Given the description of an element on the screen output the (x, y) to click on. 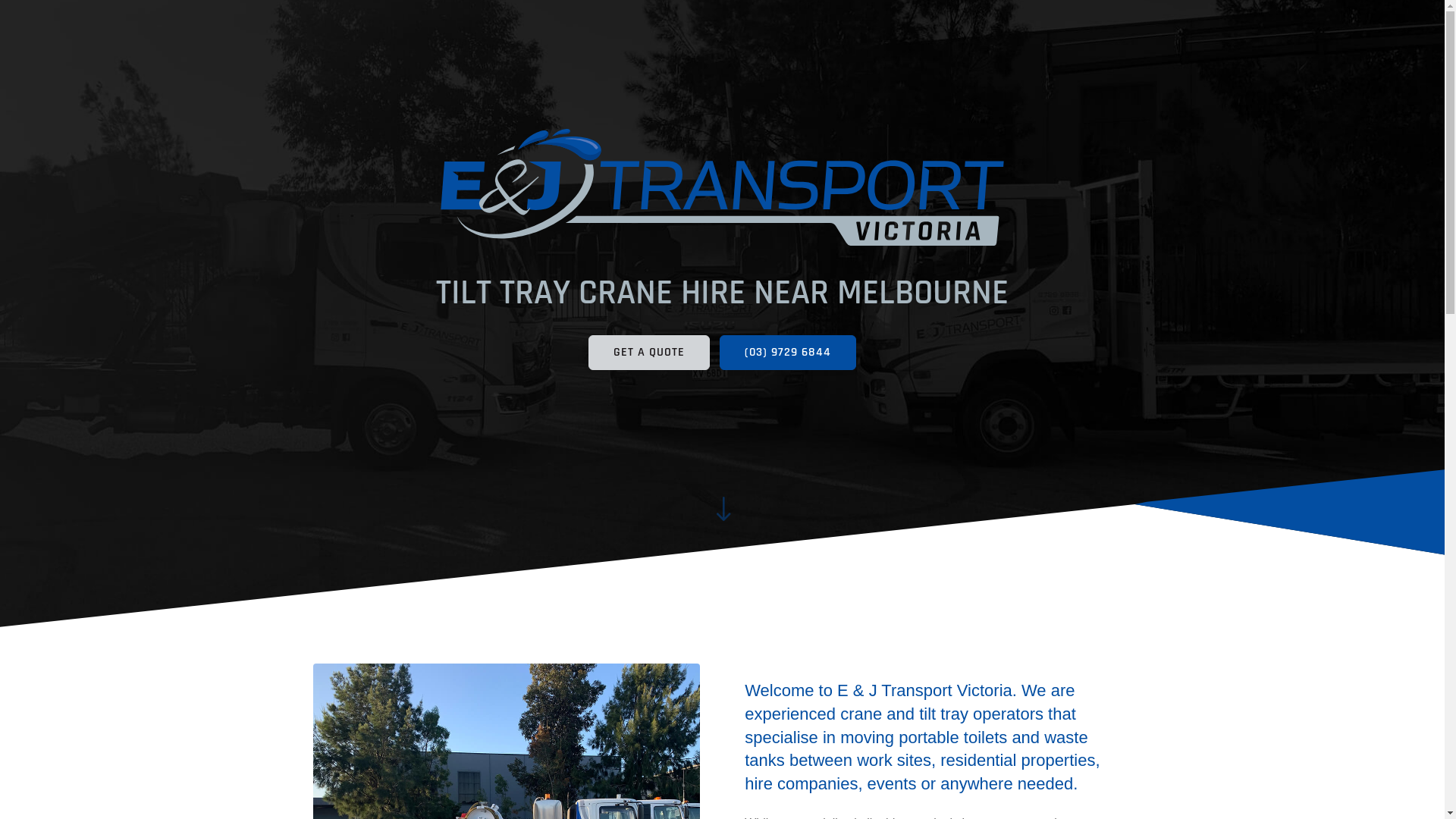
GET A QUOTE Element type: text (648, 352)
" Element type: text (722, 507)
(03) 9729 6844 Element type: text (787, 352)
